Given the description of an element on the screen output the (x, y) to click on. 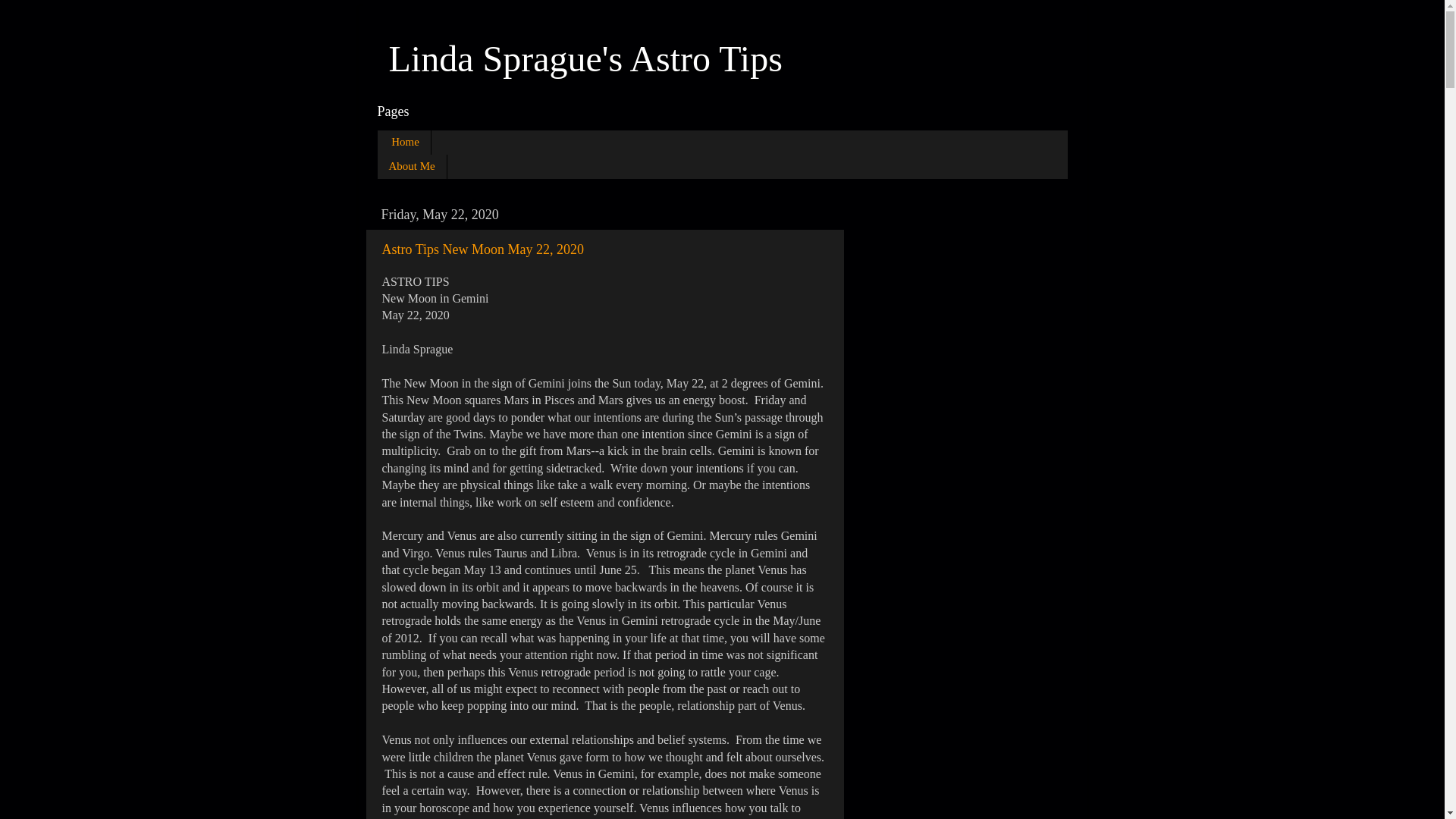
Home (403, 142)
Astro Tips New Moon May 22, 2020 (483, 249)
Linda Sprague's Astro Tips (584, 58)
About Me (411, 166)
